Given the description of an element on the screen output the (x, y) to click on. 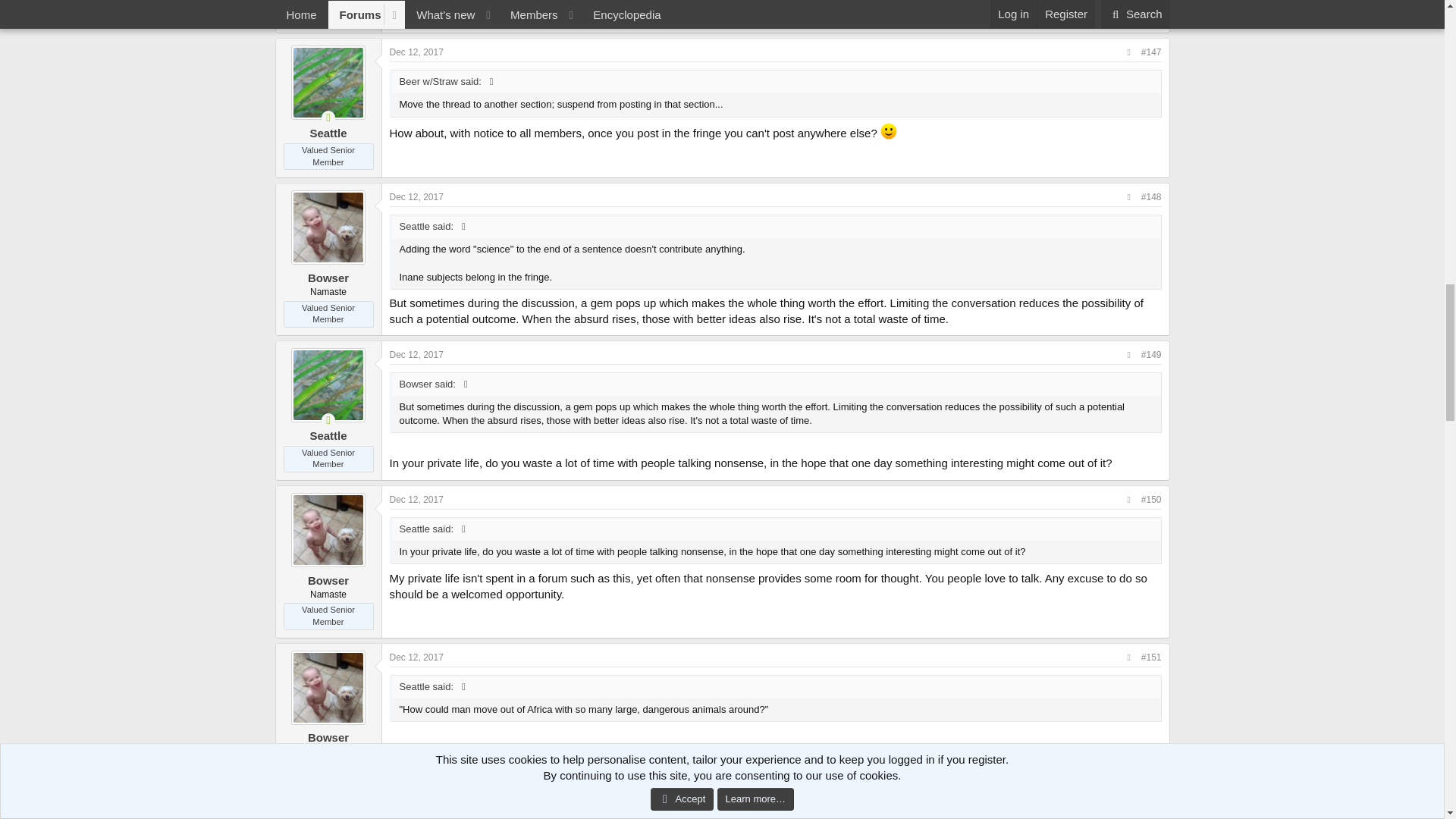
Dec 12, 2017 at 8:54 PM (417, 354)
Dec 12, 2017 at 8:39 PM (417, 196)
Dec 12, 2017 at 6:15 PM (417, 51)
